Given the description of an element on the screen output the (x, y) to click on. 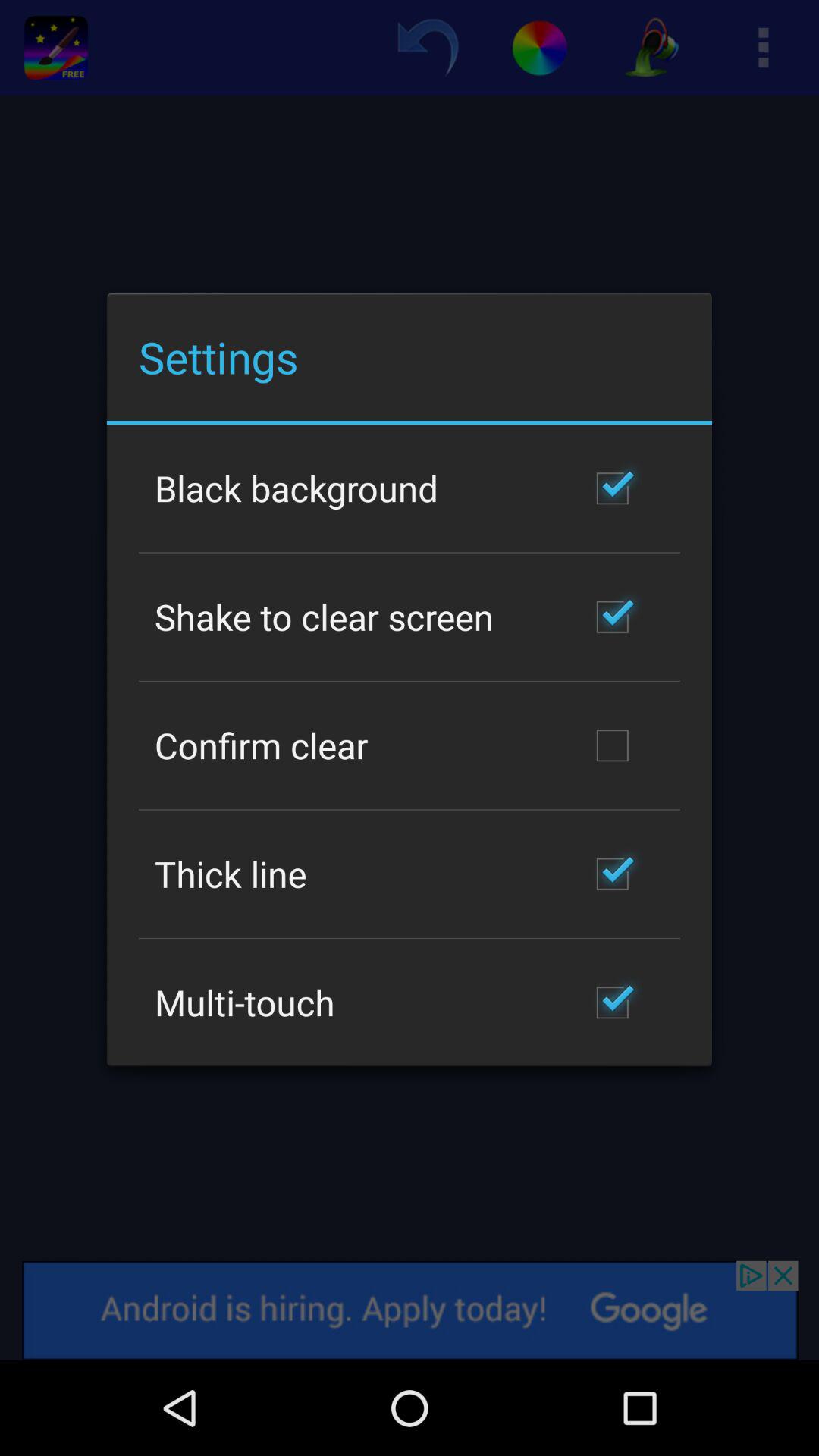
press the app above the confirm clear app (323, 616)
